Given the description of an element on the screen output the (x, y) to click on. 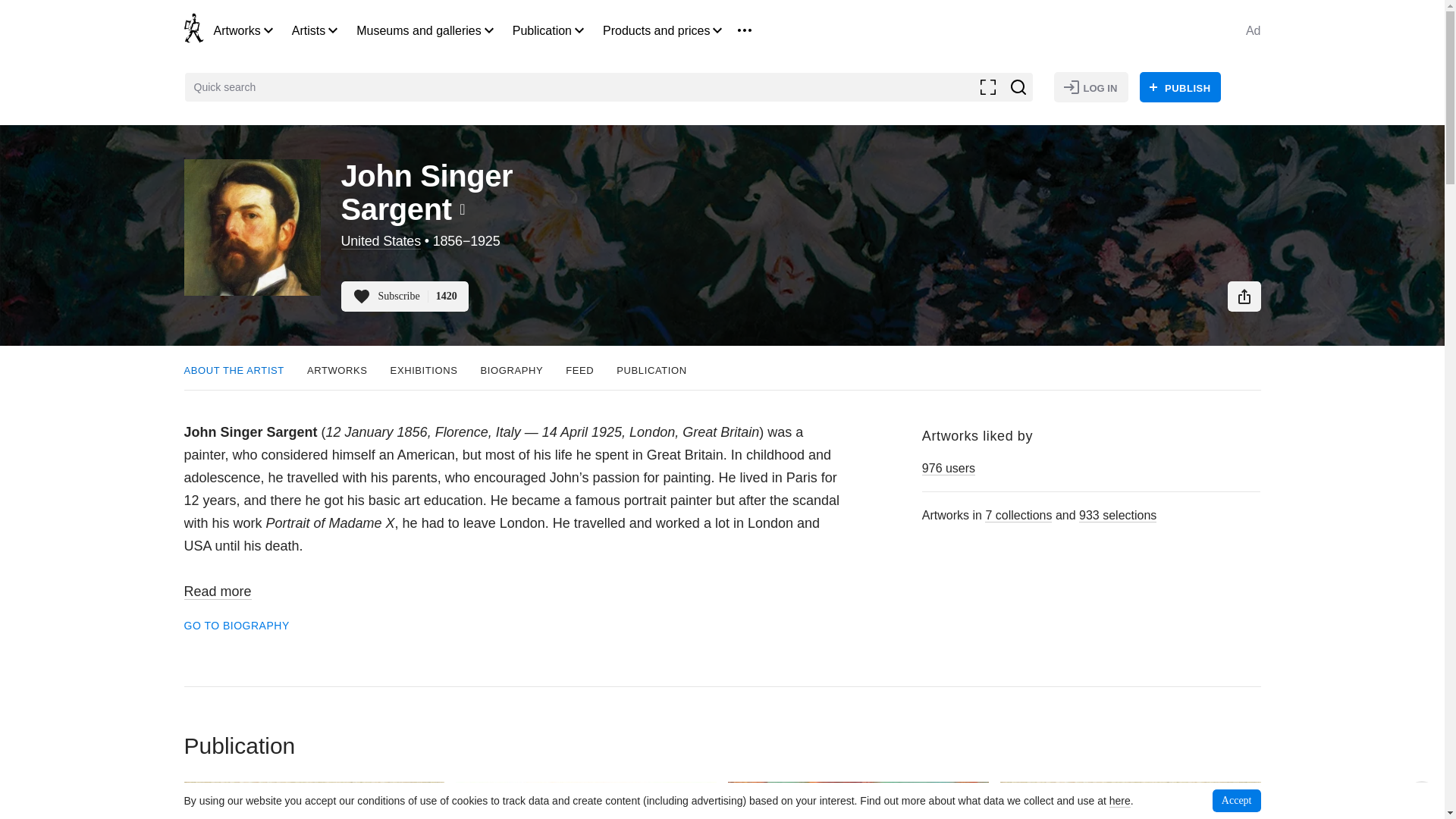
Accept (1236, 800)
Publication (542, 30)
Artworks (237, 30)
here (1120, 800)
Subscribe (404, 296)
Museums and galleries (418, 30)
Artists (308, 30)
